Given the description of an element on the screen output the (x, y) to click on. 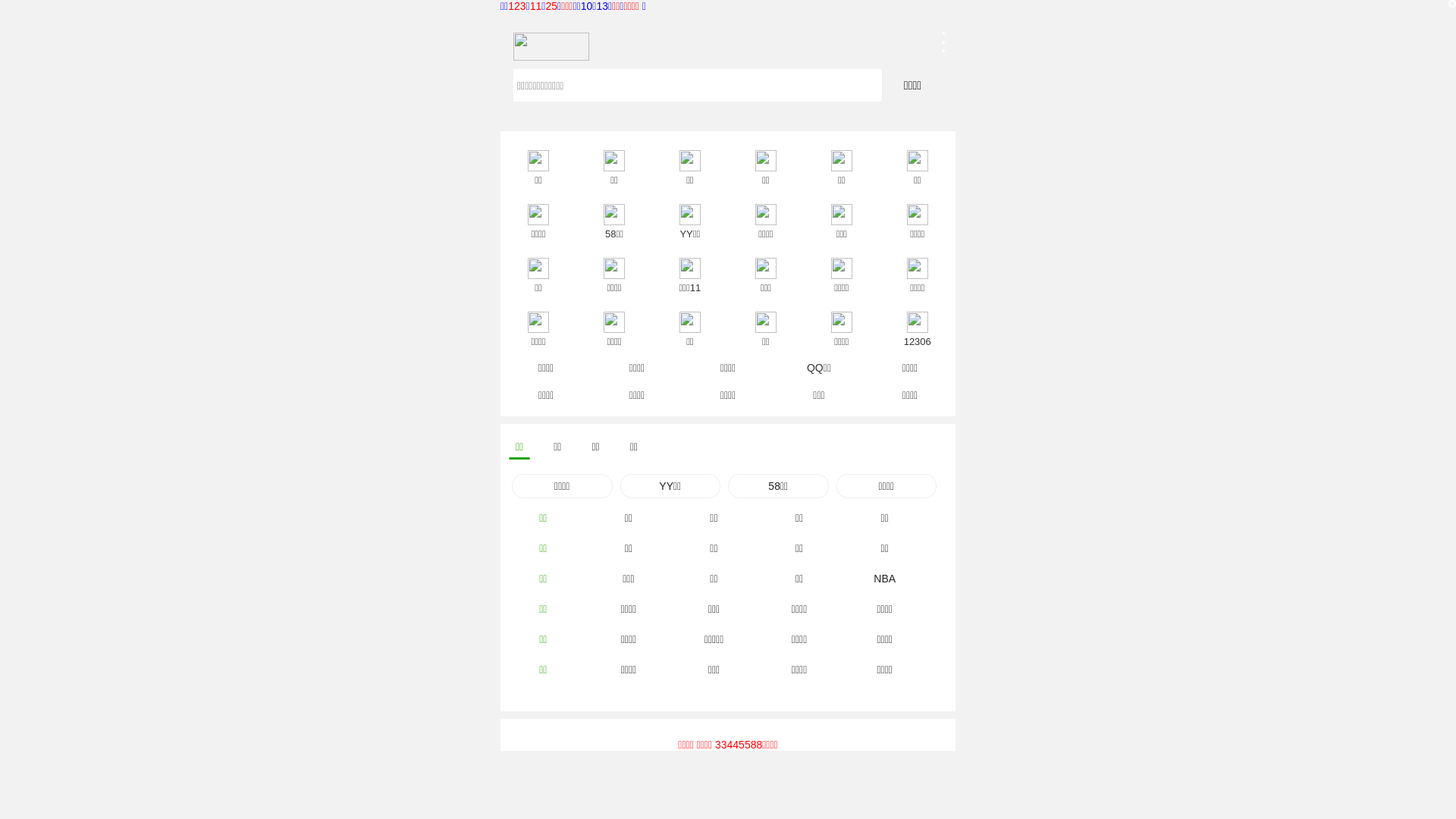
12306 Element type: text (917, 319)
NBA Element type: text (884, 578)
